Given the description of an element on the screen output the (x, y) to click on. 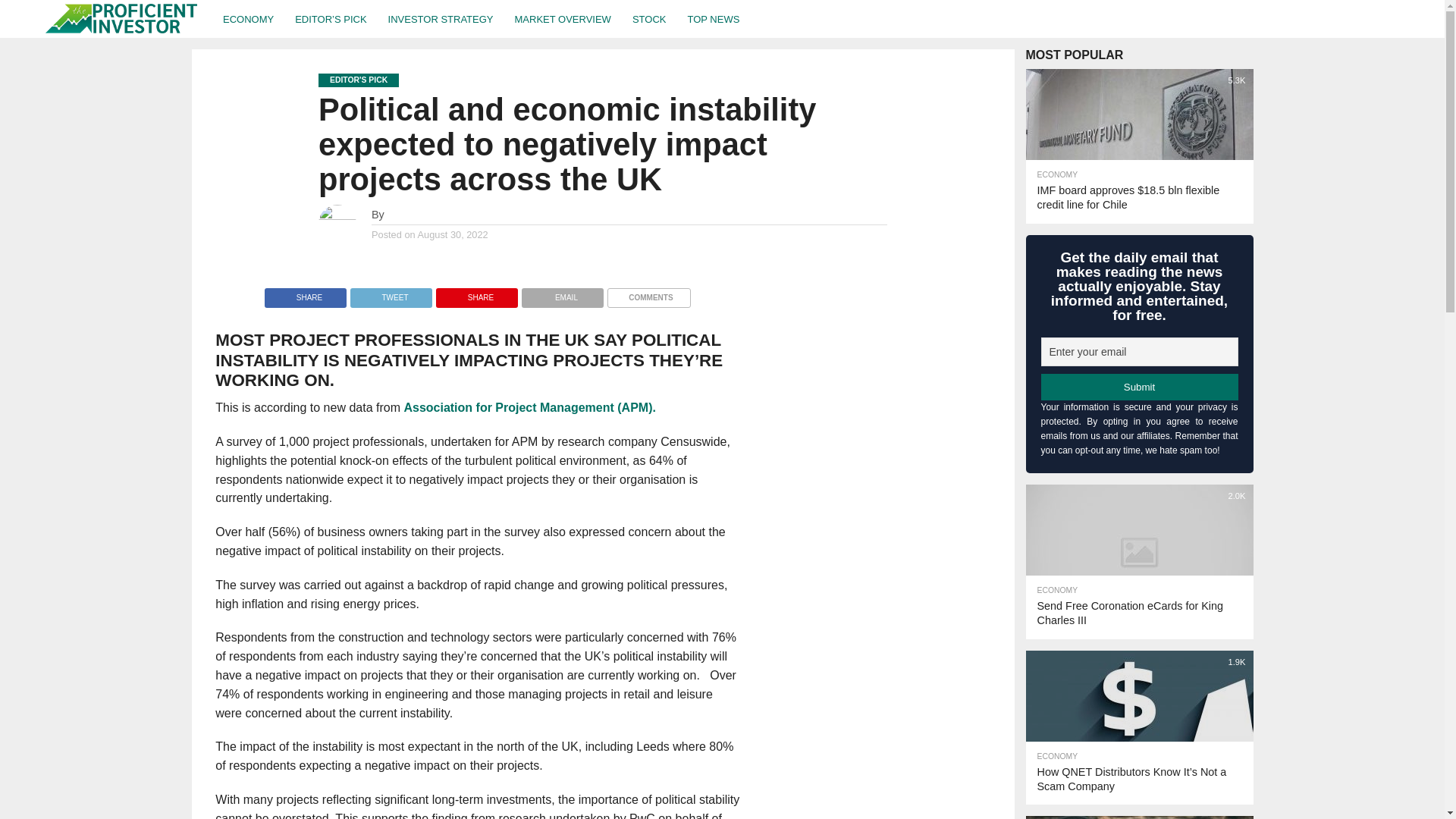
Share on Facebook (305, 293)
SHARE (476, 293)
Pin This Post (476, 293)
TWEET (390, 293)
ECONOMY (247, 18)
MARKET OVERVIEW (562, 18)
STOCK (649, 18)
COMMENTS (648, 293)
INVESTOR STRATEGY (440, 18)
SHARE (305, 293)
Submit (1139, 386)
EMAIL (562, 293)
Tweet This Post (390, 293)
Enter your email (1139, 351)
TOP NEWS (713, 18)
